Given the description of an element on the screen output the (x, y) to click on. 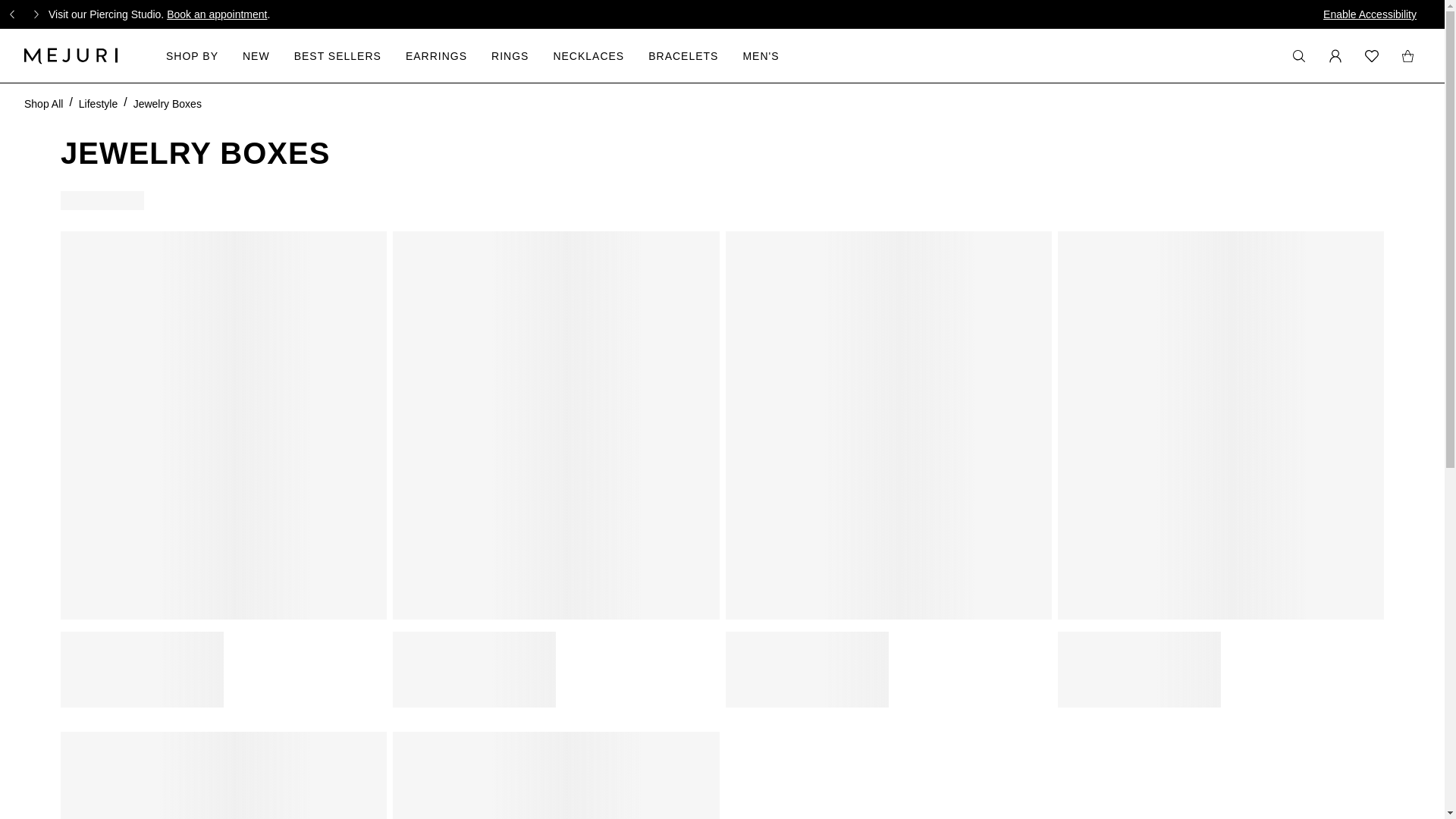
BRACELETS (682, 54)
Shop All (43, 103)
Enable Accessibility (1370, 14)
EARRINGS (436, 54)
Book an appointment (216, 14)
Lifestyle (97, 103)
NEW (256, 54)
NECKLACES (588, 54)
SHOP BY (191, 54)
BEST SELLERS (337, 54)
RINGS (510, 54)
Jewelry Boxes (167, 103)
MEN'S (760, 54)
